Given the description of an element on the screen output the (x, y) to click on. 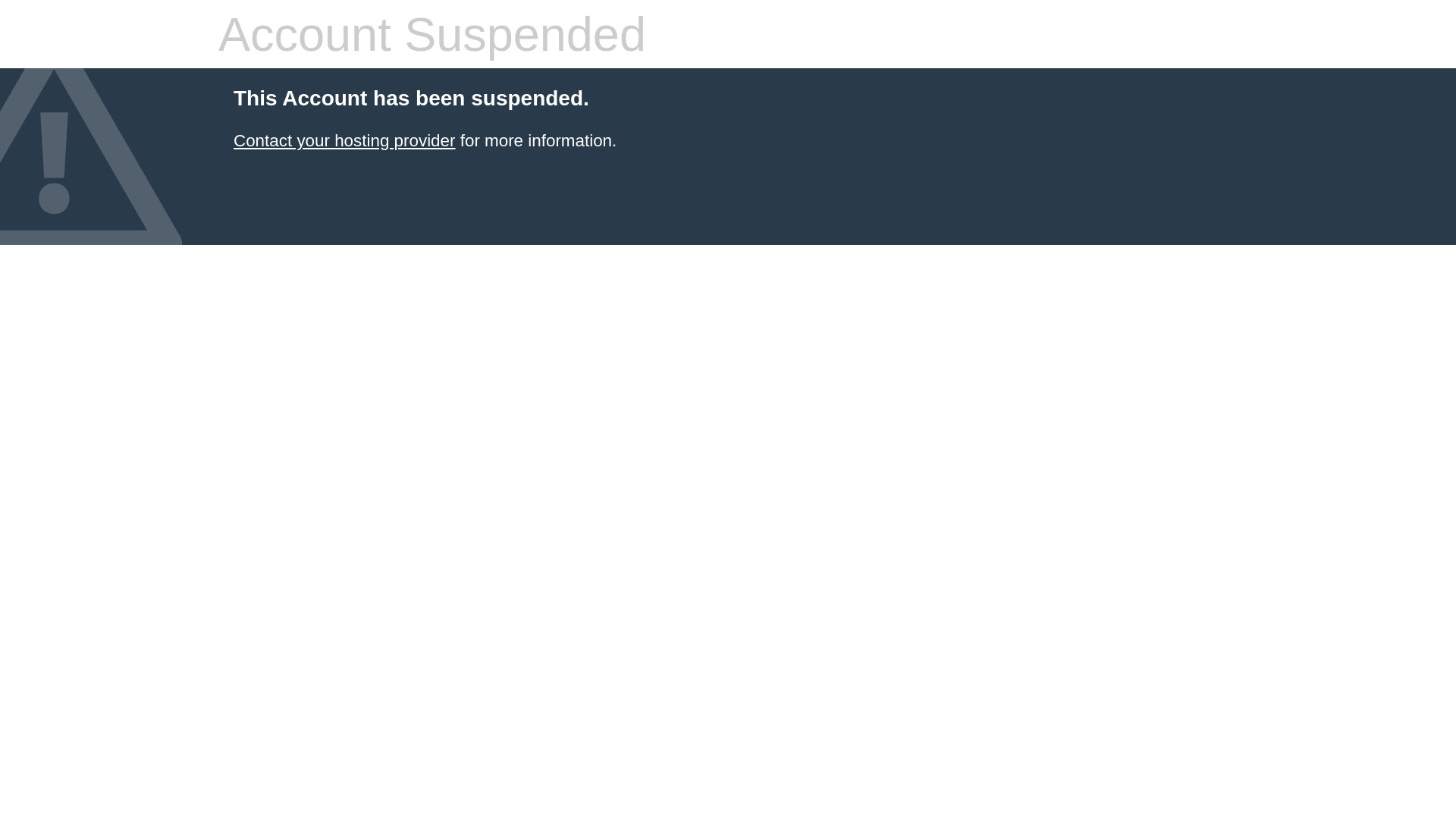
Contact your hosting provider Element type: text (344, 140)
